Given the description of an element on the screen output the (x, y) to click on. 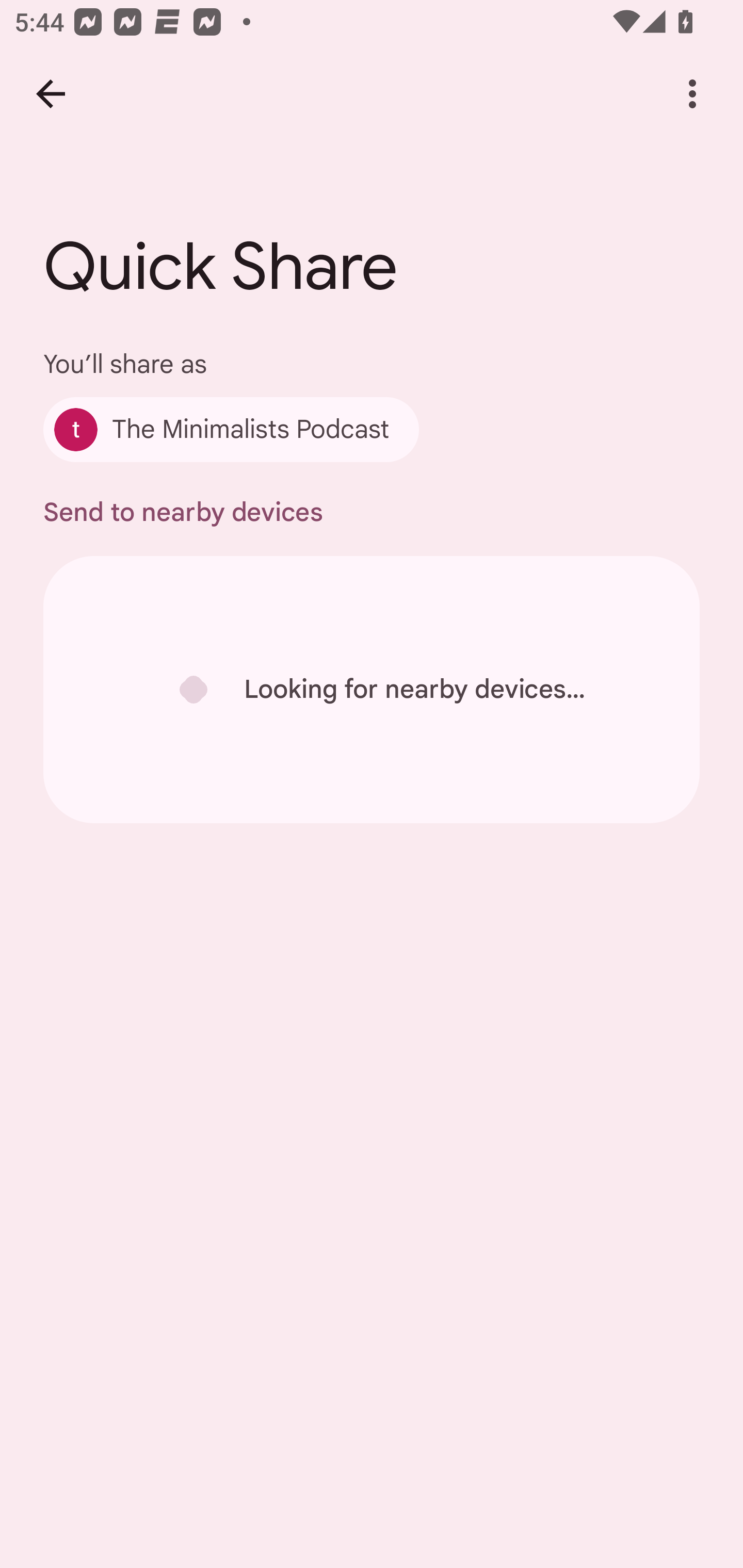
Back (50, 93)
More (692, 93)
The Minimalists Podcast (231, 429)
